Given the description of an element on the screen output the (x, y) to click on. 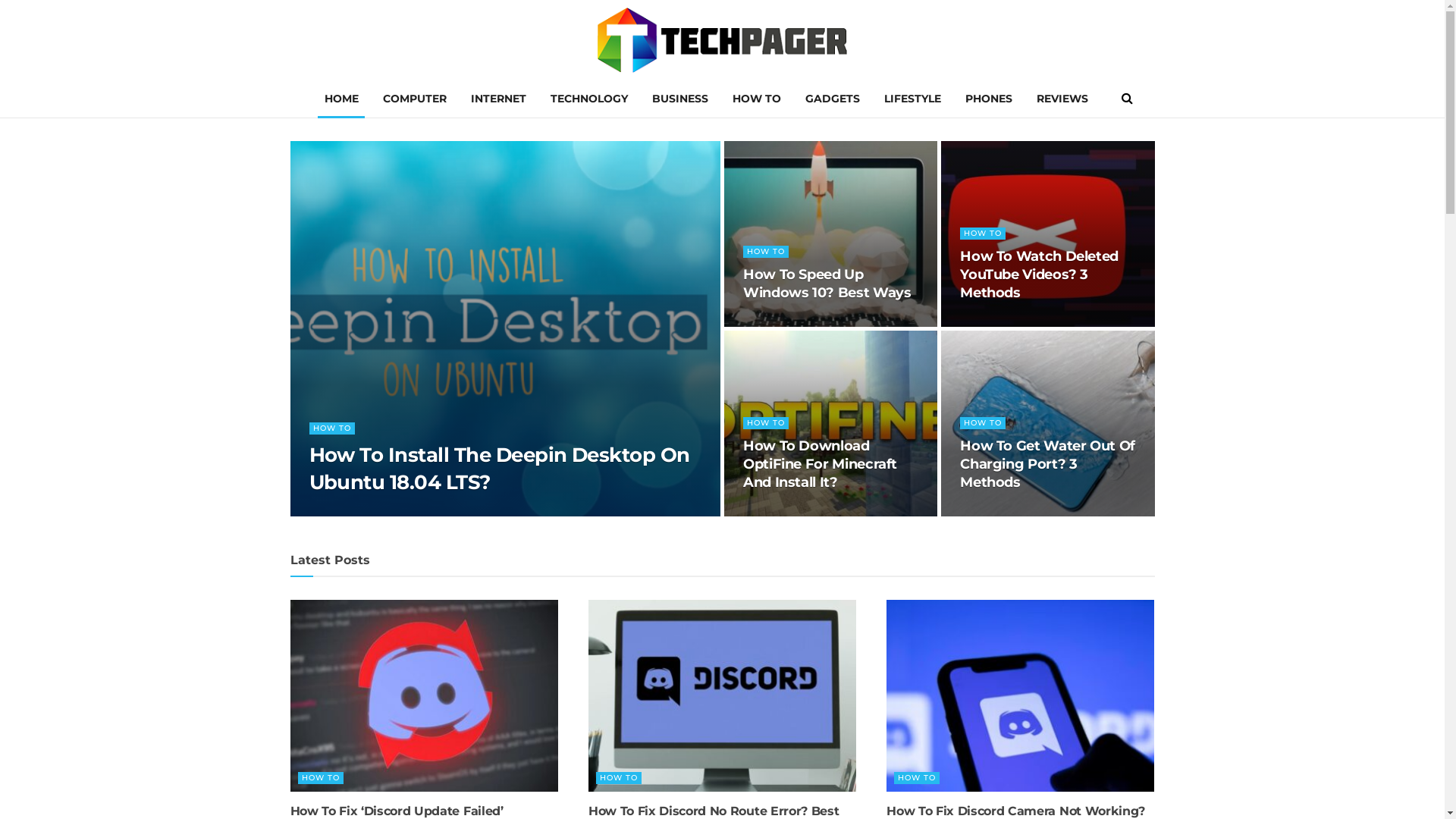
HOW TO Element type: text (982, 423)
HOW TO Element type: text (765, 251)
HOW TO Element type: text (765, 423)
HOW TO Element type: text (319, 777)
HOW TO Element type: text (618, 777)
TechPager Element type: text (722, 39)
REVIEWS Element type: text (1061, 98)
HOW TO Element type: text (331, 428)
INTERNET Element type: text (497, 98)
TECHNOLOGY Element type: text (589, 98)
How To Speed Up Windows 10? Best Ways Element type: text (826, 283)
HOW TO Element type: text (916, 777)
HOW TO Element type: text (982, 233)
How To Get Water Out Of Charging Port? 3 Methods Element type: text (1047, 464)
How To Download OptiFine For Minecraft And Install It? Element type: text (820, 464)
PHONES Element type: text (987, 98)
How To Install The Deepin Desktop On Ubuntu 18.04 LTS? Element type: text (499, 467)
COMPUTER Element type: text (414, 98)
HOW TO Element type: text (756, 98)
LIFESTYLE Element type: text (912, 98)
How To Watch Deleted YouTube Videos? 3 Methods Element type: text (1039, 274)
GADGETS Element type: text (832, 98)
BUSINESS Element type: text (680, 98)
HOME Element type: text (341, 98)
